Given the description of an element on the screen output the (x, y) to click on. 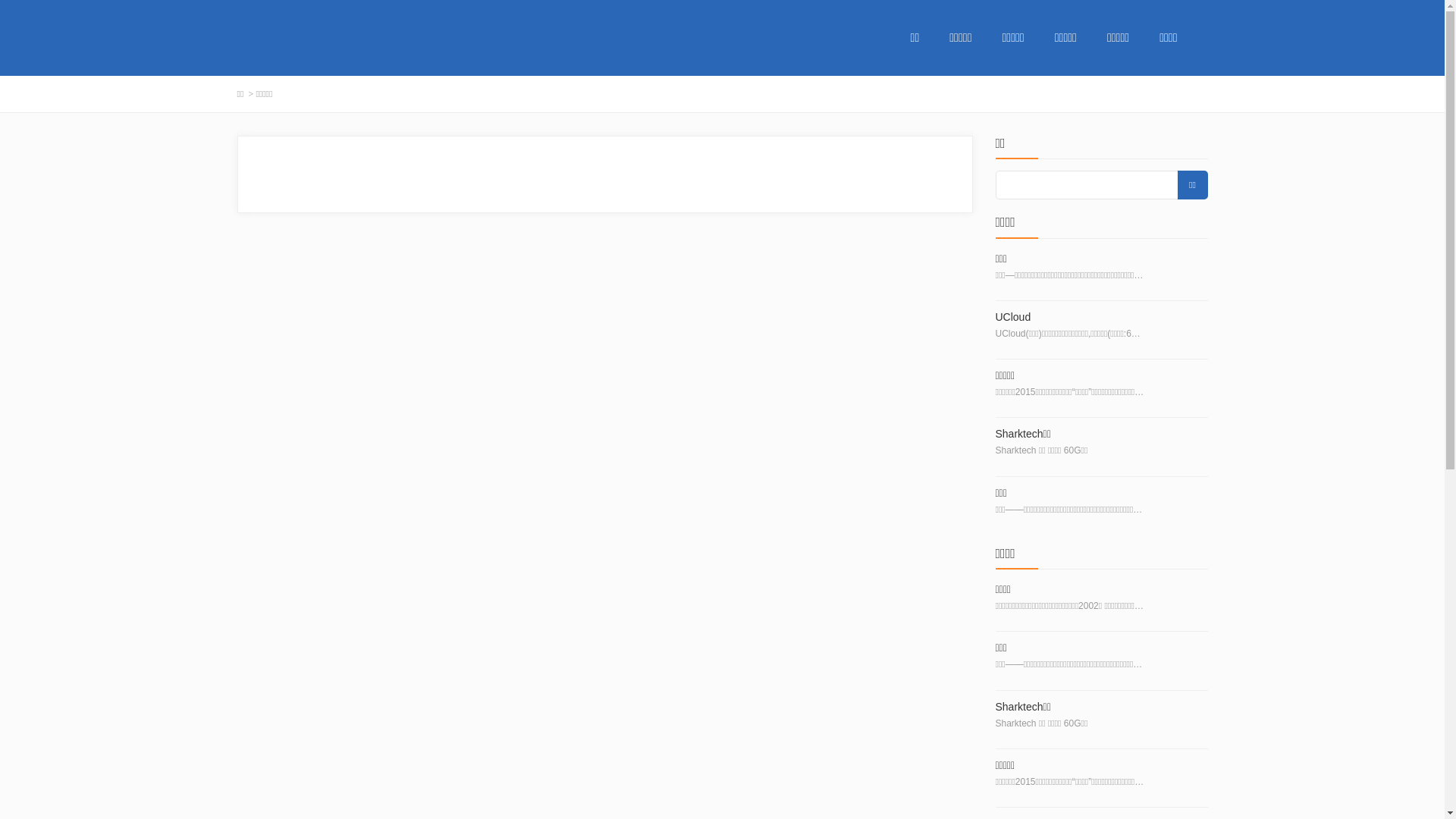
UCloud Element type: text (1069, 317)
UCloud Element type: hover (1179, 329)
